Given the description of an element on the screen output the (x, y) to click on. 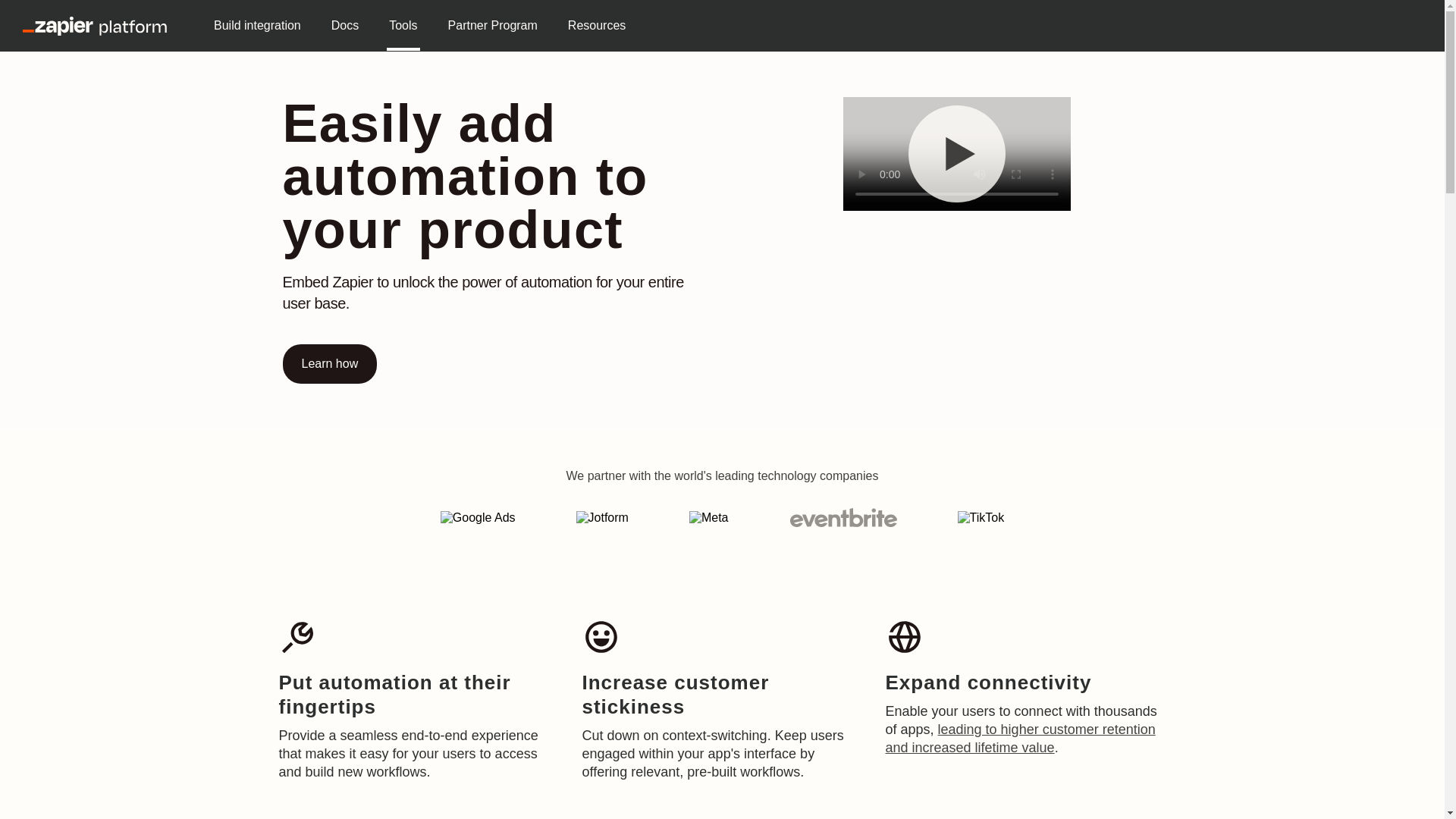
Resources (596, 25)
Build integration (256, 25)
Partner Program (492, 25)
Full Zapier Experience (956, 153)
Learn how (329, 363)
